Given the description of an element on the screen output the (x, y) to click on. 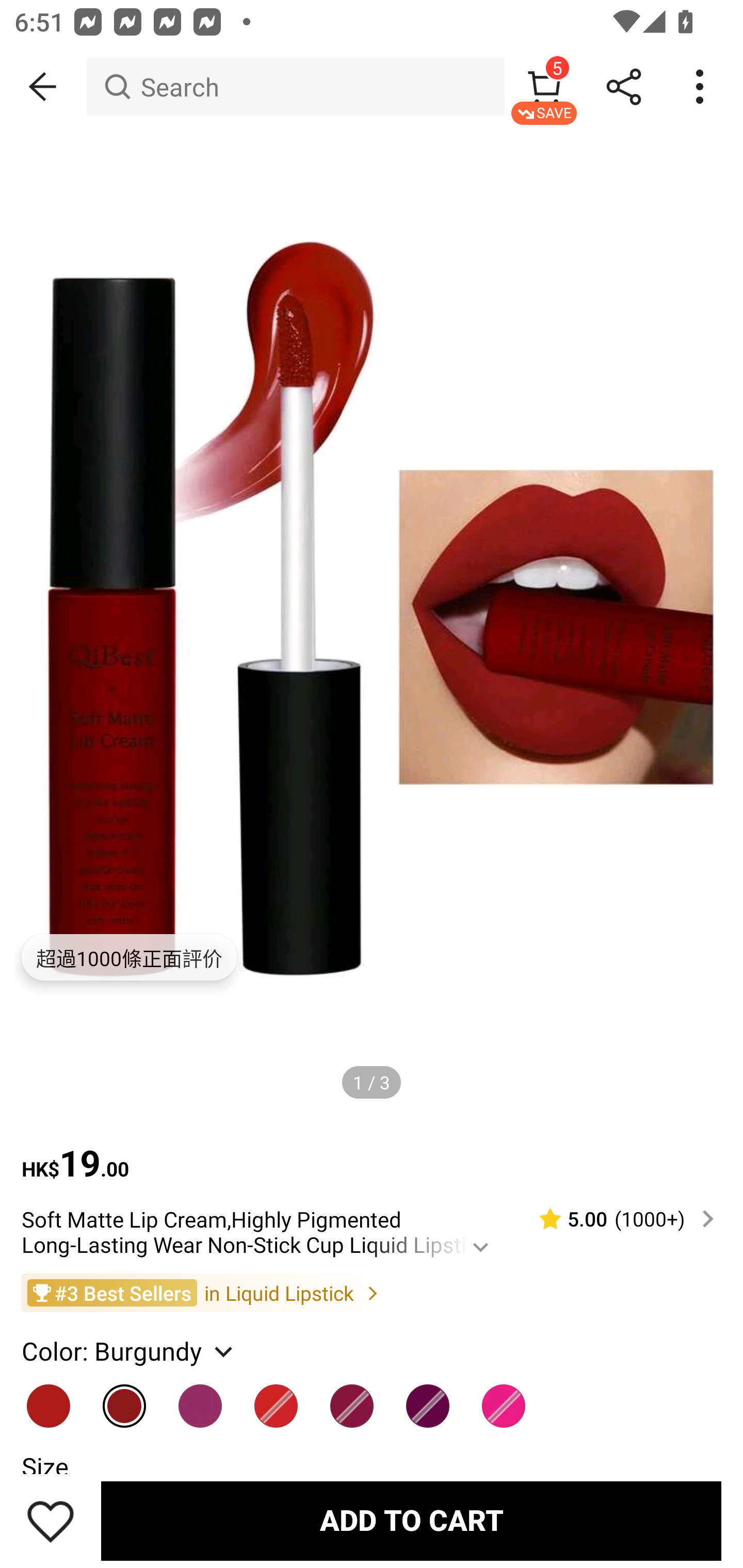
BACK (43, 86)
5 SAVE (543, 87)
Search (295, 87)
1 / 3 (371, 1082)
HK$19.00 (371, 1152)
5.00 (1000‎+) (617, 1219)
#3 Best Sellers in Liquid Lipstick (371, 1292)
Color: Burgundy (129, 1350)
Red (48, 1397)
Burgundy (124, 1397)
Mauve Purple (200, 1397)
Redwood (276, 1397)
02 Grape Jelly (352, 1397)
Purple (427, 1397)
Rusty Rose (503, 1397)
Size (44, 1465)
ADD TO CART (411, 1520)
Save (50, 1520)
